Given the description of an element on the screen output the (x, y) to click on. 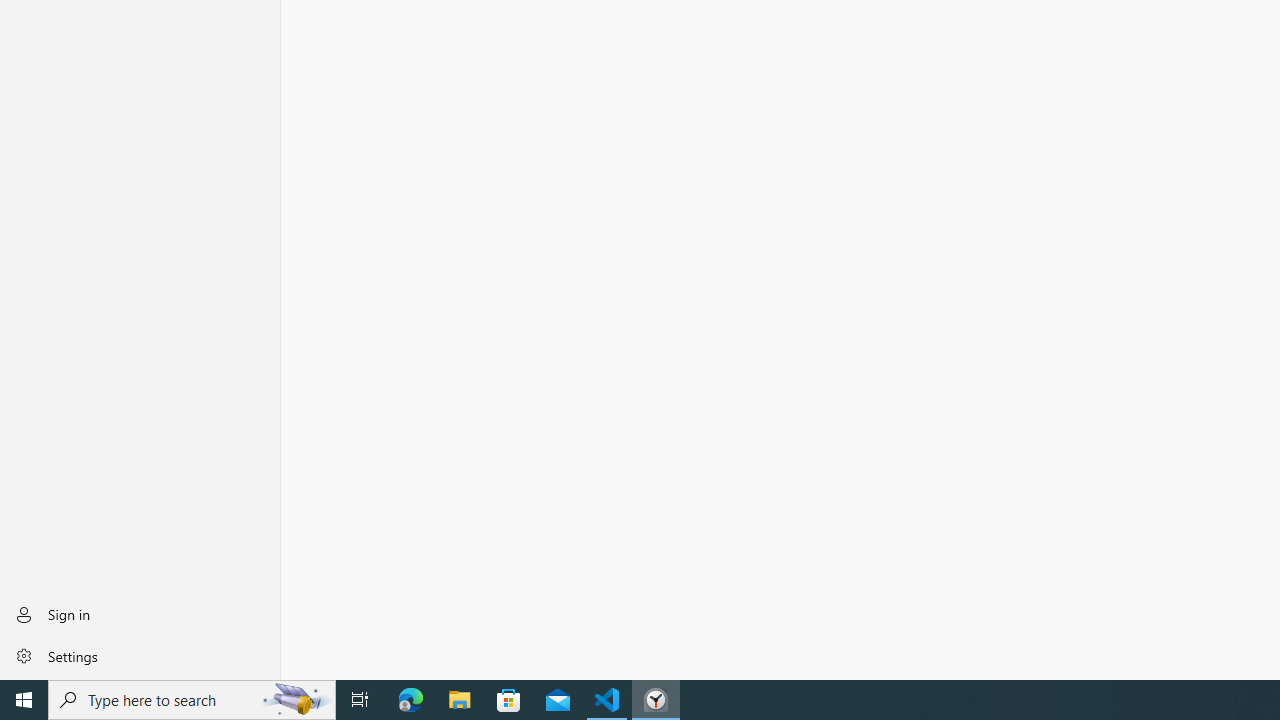
Clock - 1 running window (656, 699)
Settings (139, 655)
Sign in (139, 614)
